Given the description of an element on the screen output the (x, y) to click on. 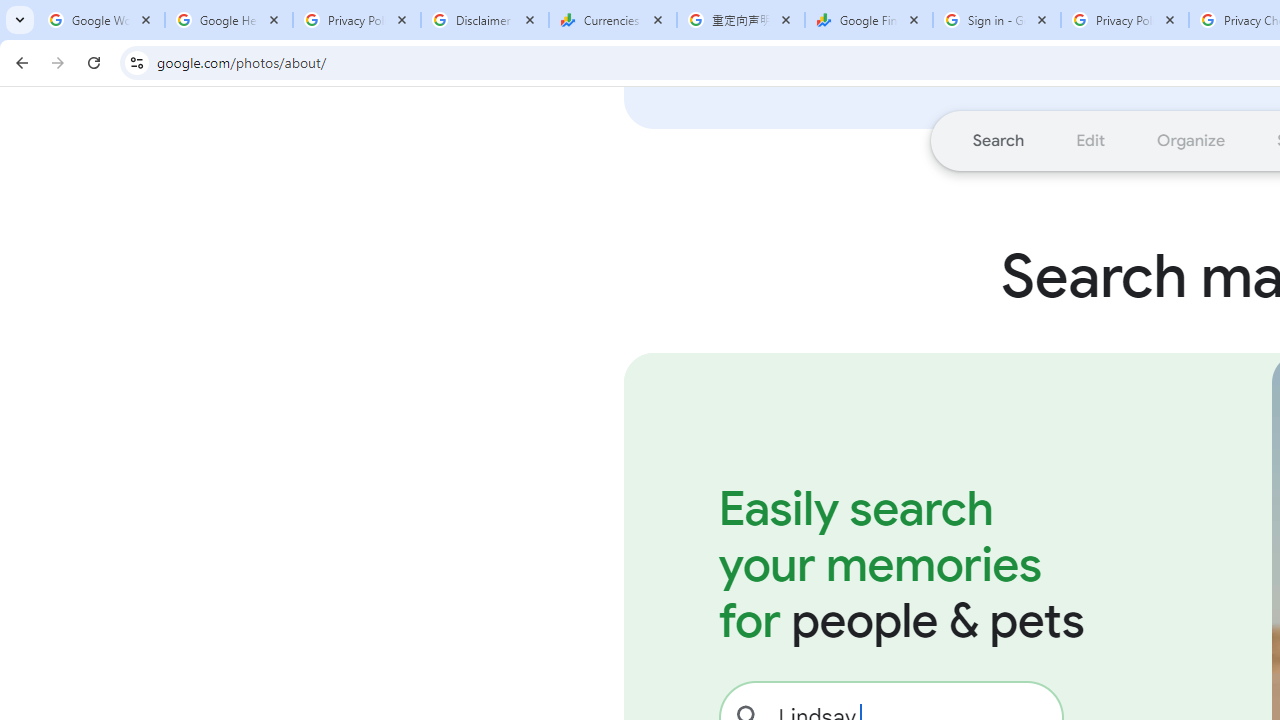
Sign in - Google Accounts (997, 20)
Go to section: Search (998, 140)
Currencies - Google Finance (613, 20)
Go to section: Edit (1090, 140)
